Given the description of an element on the screen output the (x, y) to click on. 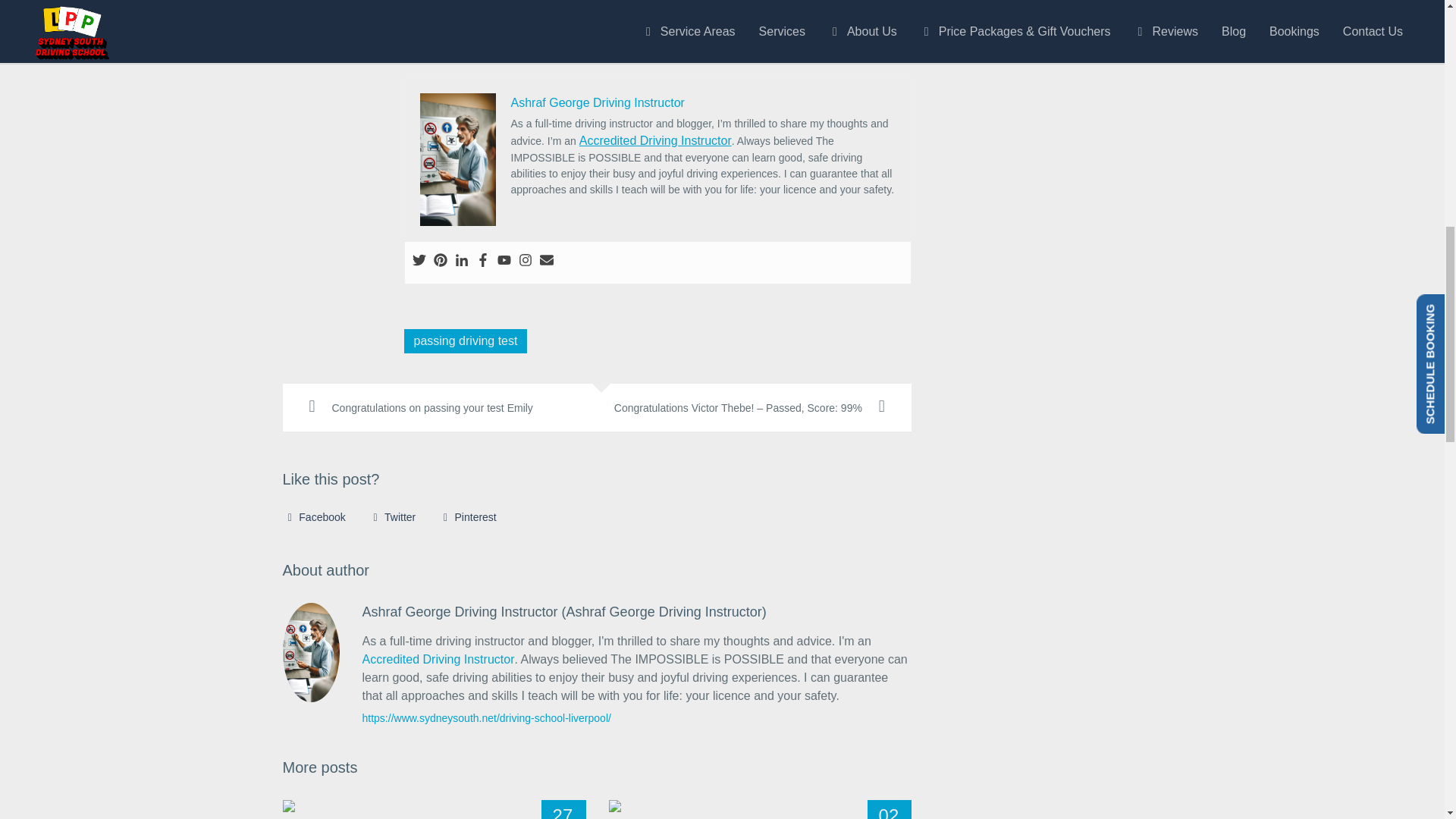
July 27, 2023 (563, 809)
Ashraf George Driving Instructor website (486, 717)
